Given the description of an element on the screen output the (x, y) to click on. 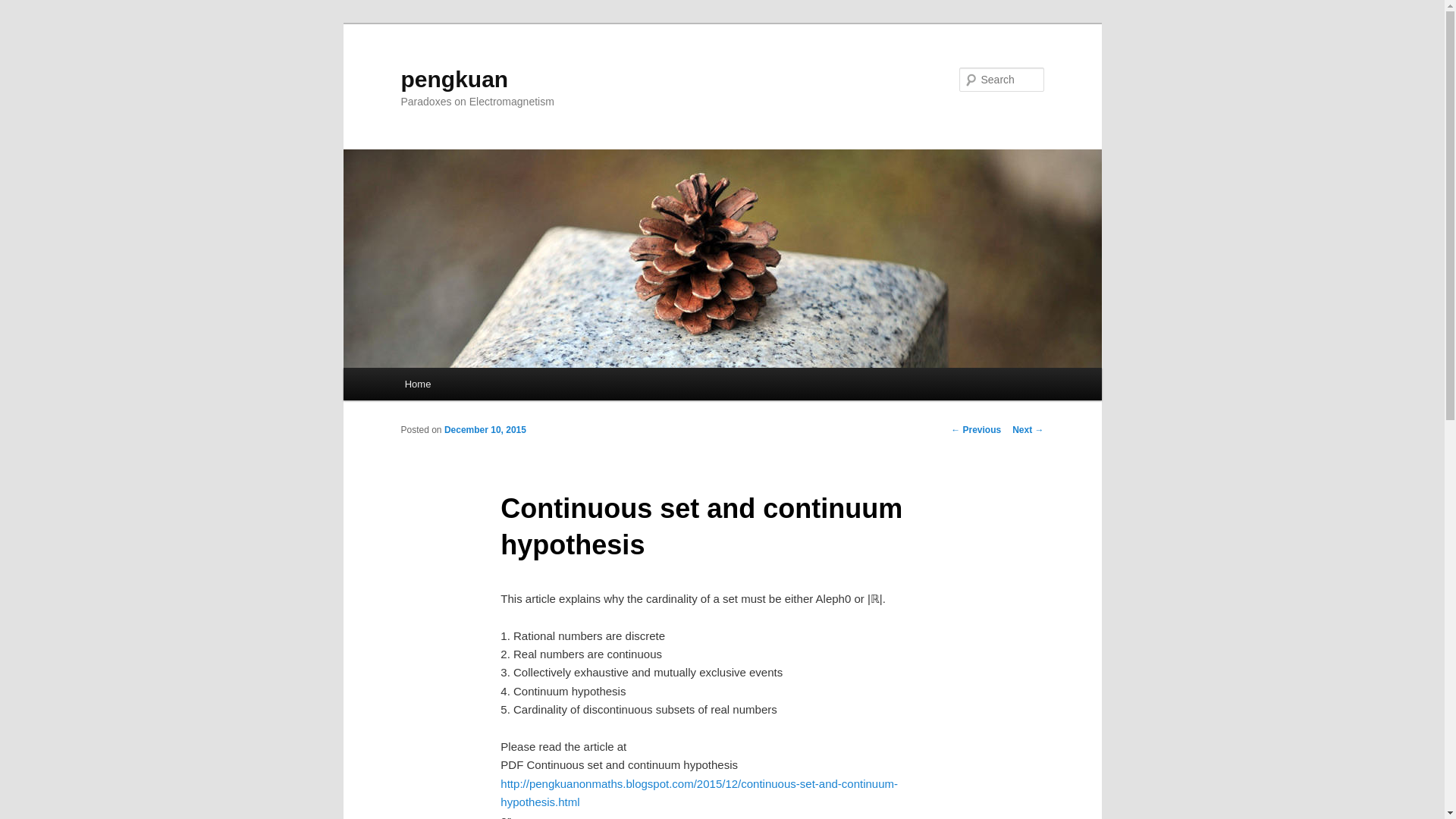
Home (417, 383)
Search (24, 8)
3:40 am (484, 429)
December 10, 2015 (484, 429)
pengkuan (454, 78)
